Given the description of an element on the screen output the (x, y) to click on. 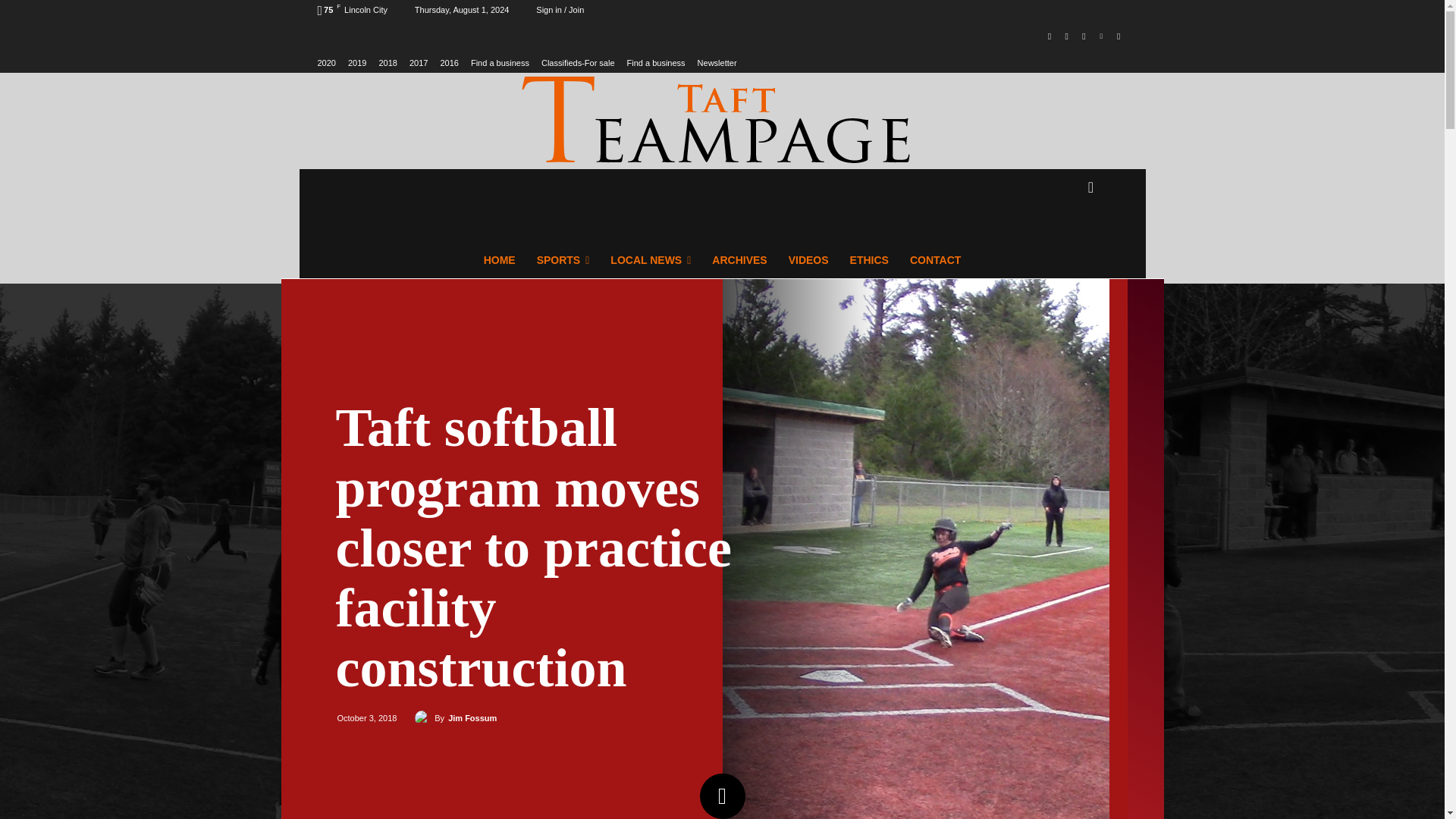
2018 (387, 62)
Facebook (1049, 36)
Instagram (1066, 36)
2019 (356, 62)
Twitter (1084, 36)
Vimeo (1101, 36)
2020 (325, 62)
